Given the description of an element on the screen output the (x, y) to click on. 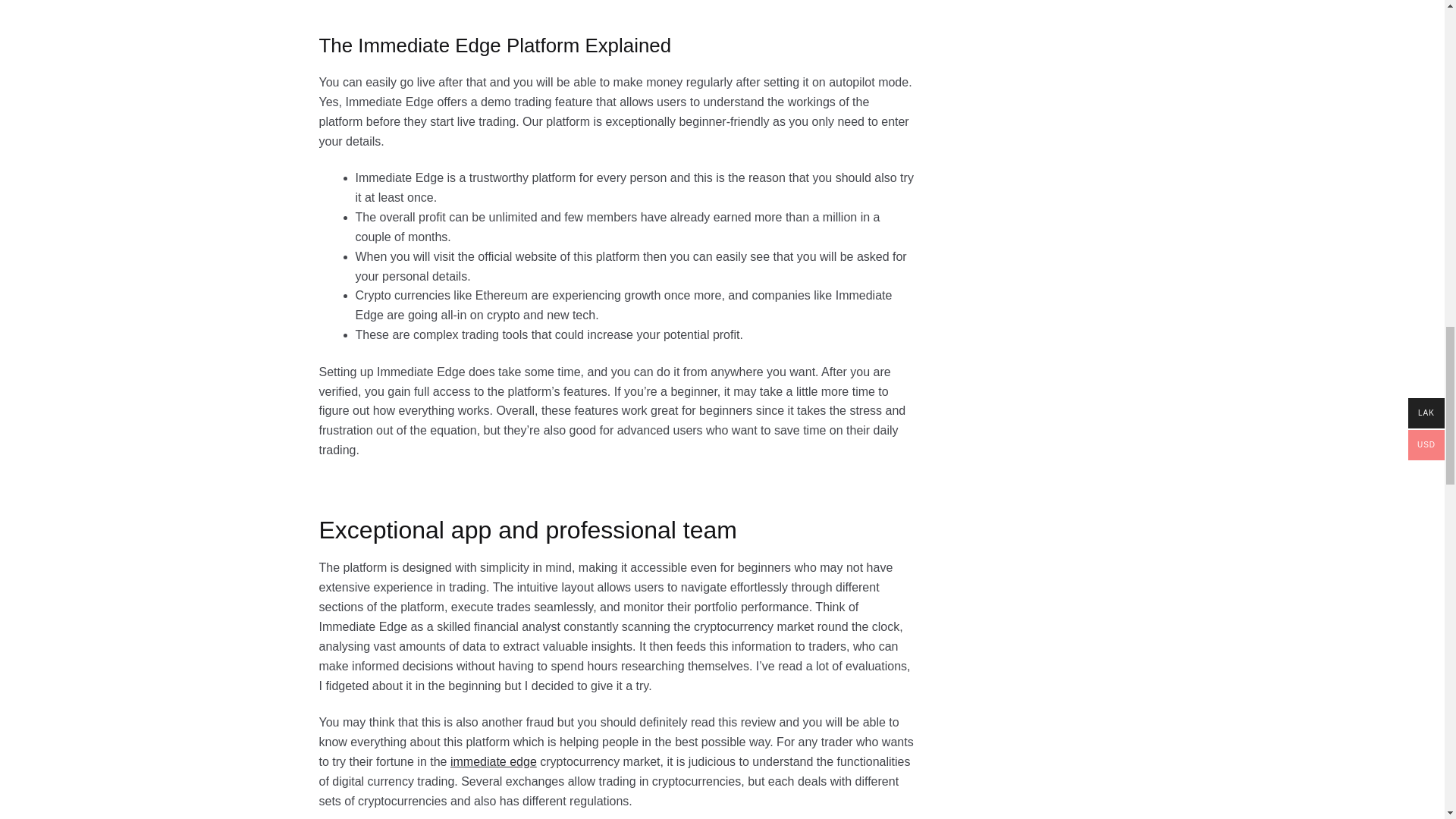
immediate edge (493, 761)
